Given the description of an element on the screen output the (x, y) to click on. 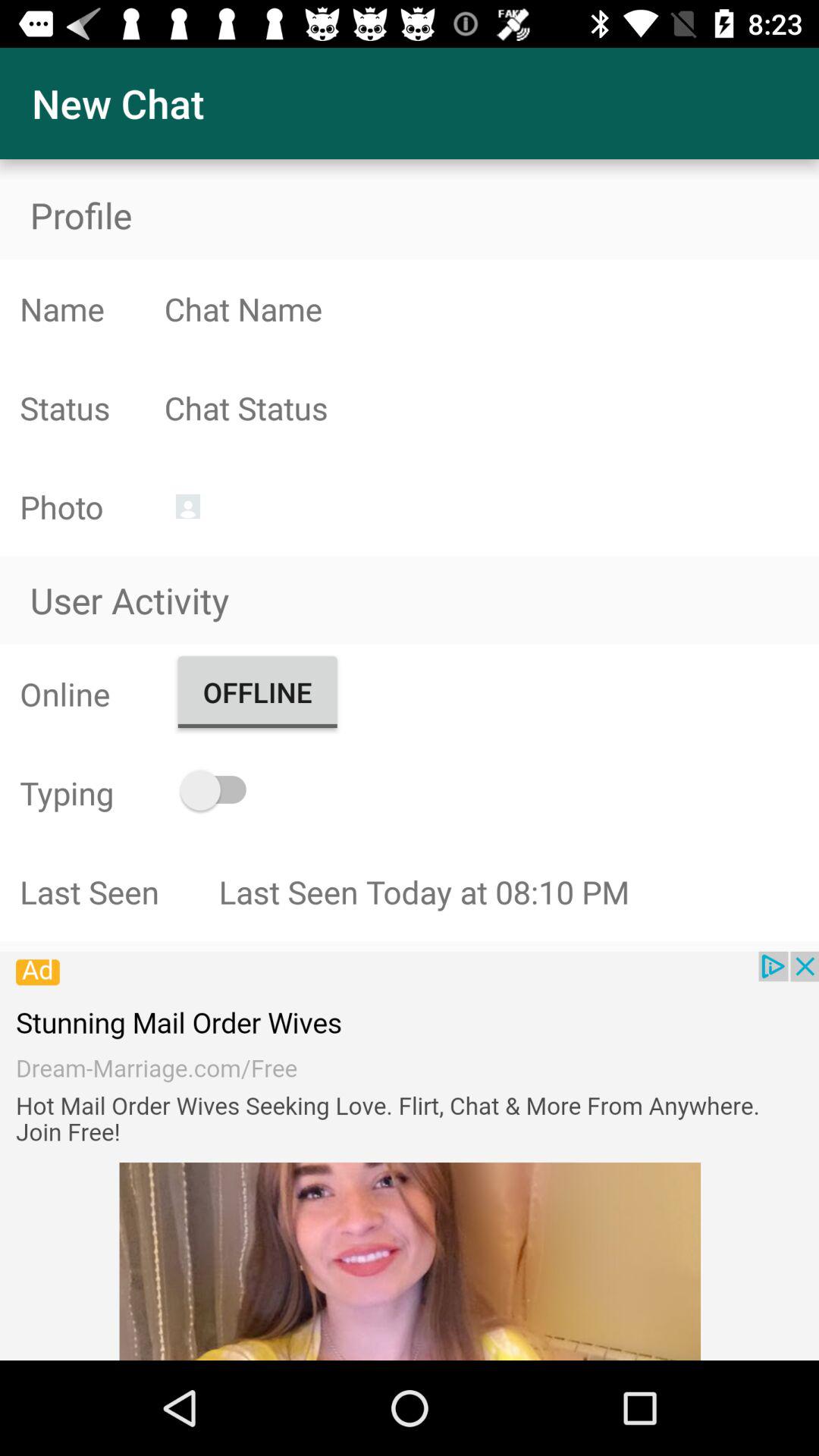
set profile photo (187, 506)
